Given the description of an element on the screen output the (x, y) to click on. 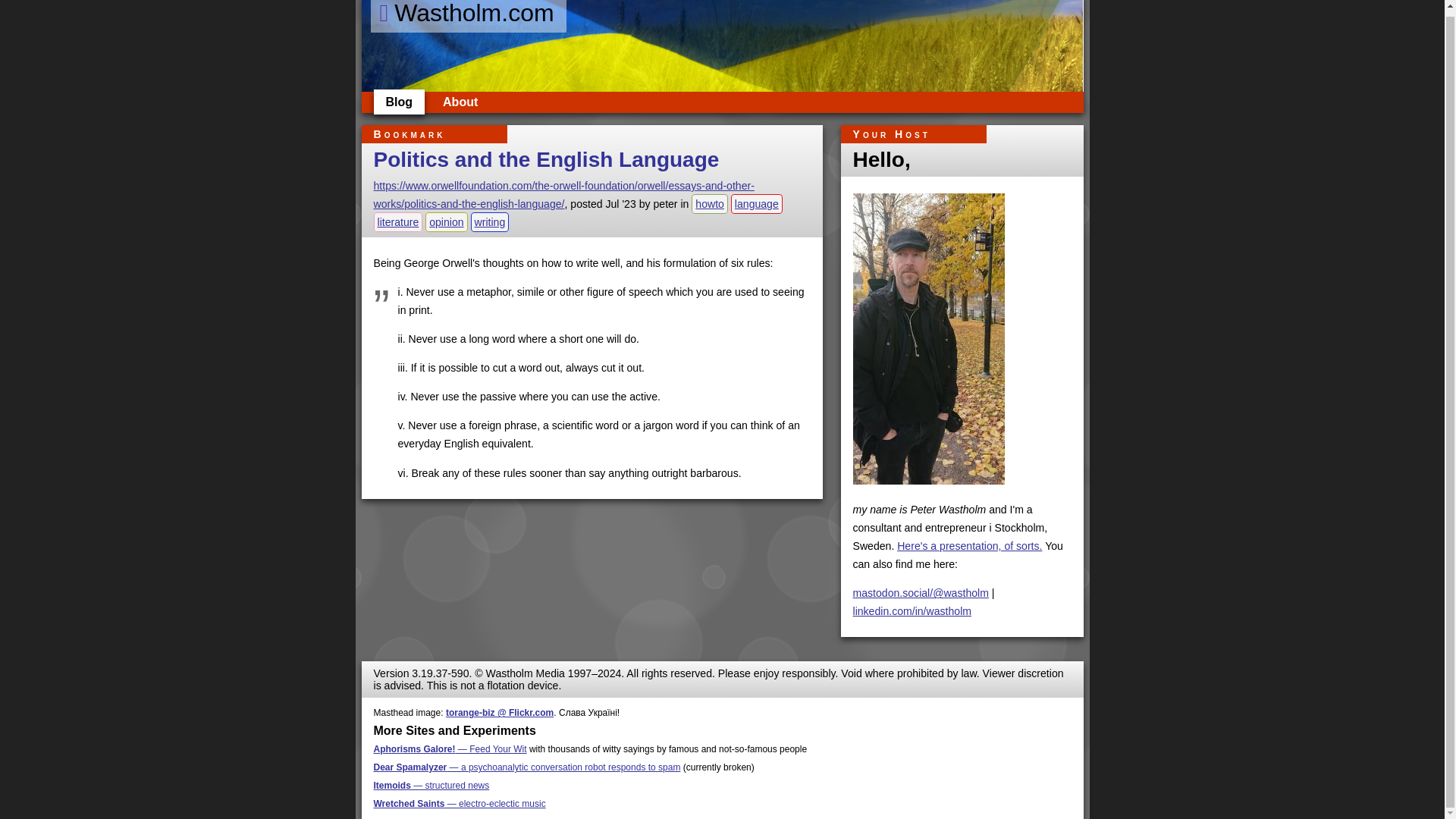
Here's a presentation, of sorts. (969, 545)
howto (709, 203)
Blog (398, 101)
Blog (398, 101)
writing (489, 221)
literature (397, 221)
Politics and the English Language (545, 159)
About Peter (459, 101)
Wastholm.com (467, 16)
opinion (446, 221)
language (756, 203)
About (459, 101)
